Given the description of an element on the screen output the (x, y) to click on. 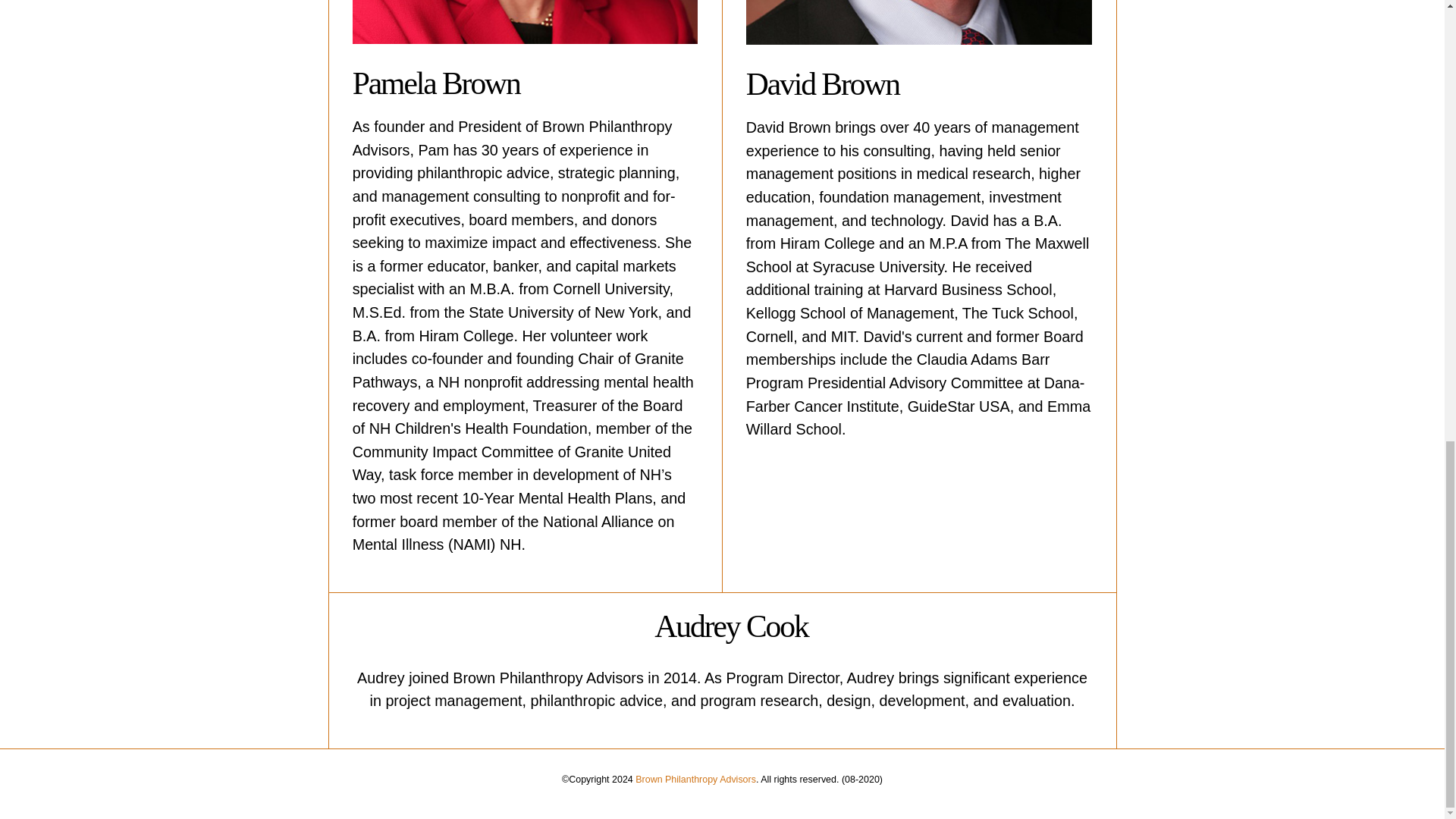
Brown Philanthropy Advisors (694, 778)
